Given the description of an element on the screen output the (x, y) to click on. 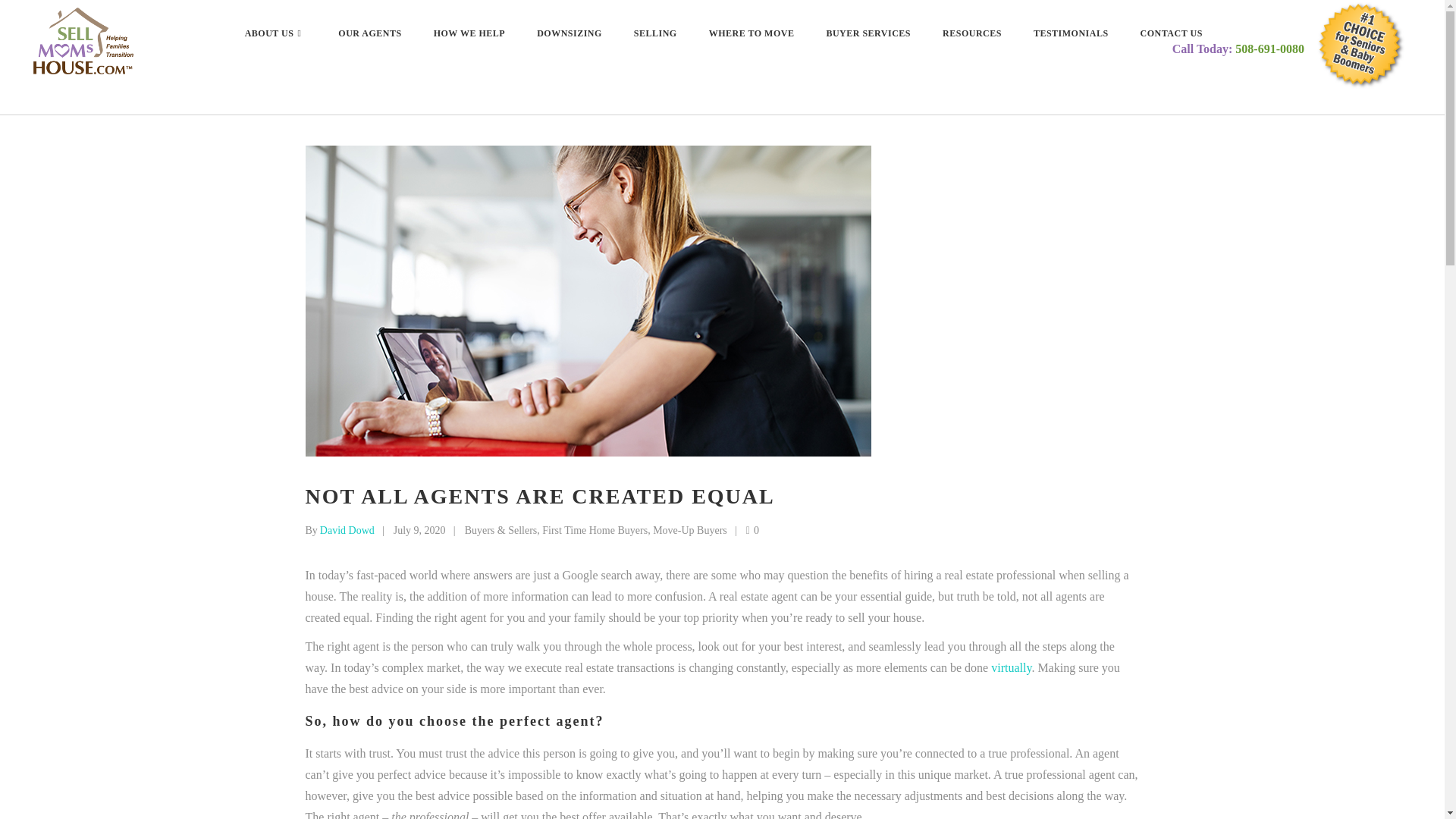
0 (751, 530)
First Time Home Buyers (594, 530)
WHERE TO MOVE (751, 33)
Like this (751, 530)
virtually (1010, 667)
508-691-0080 (1269, 48)
RESOURCES (971, 33)
CONTACT US (1171, 33)
SELLING (655, 33)
Move-Up Buyers (689, 530)
July 9, 2020 (419, 530)
HOW WE HELP (469, 33)
OUR AGENTS (368, 33)
David Dowd (347, 530)
TESTIMONIALS (1070, 33)
